Given the description of an element on the screen output the (x, y) to click on. 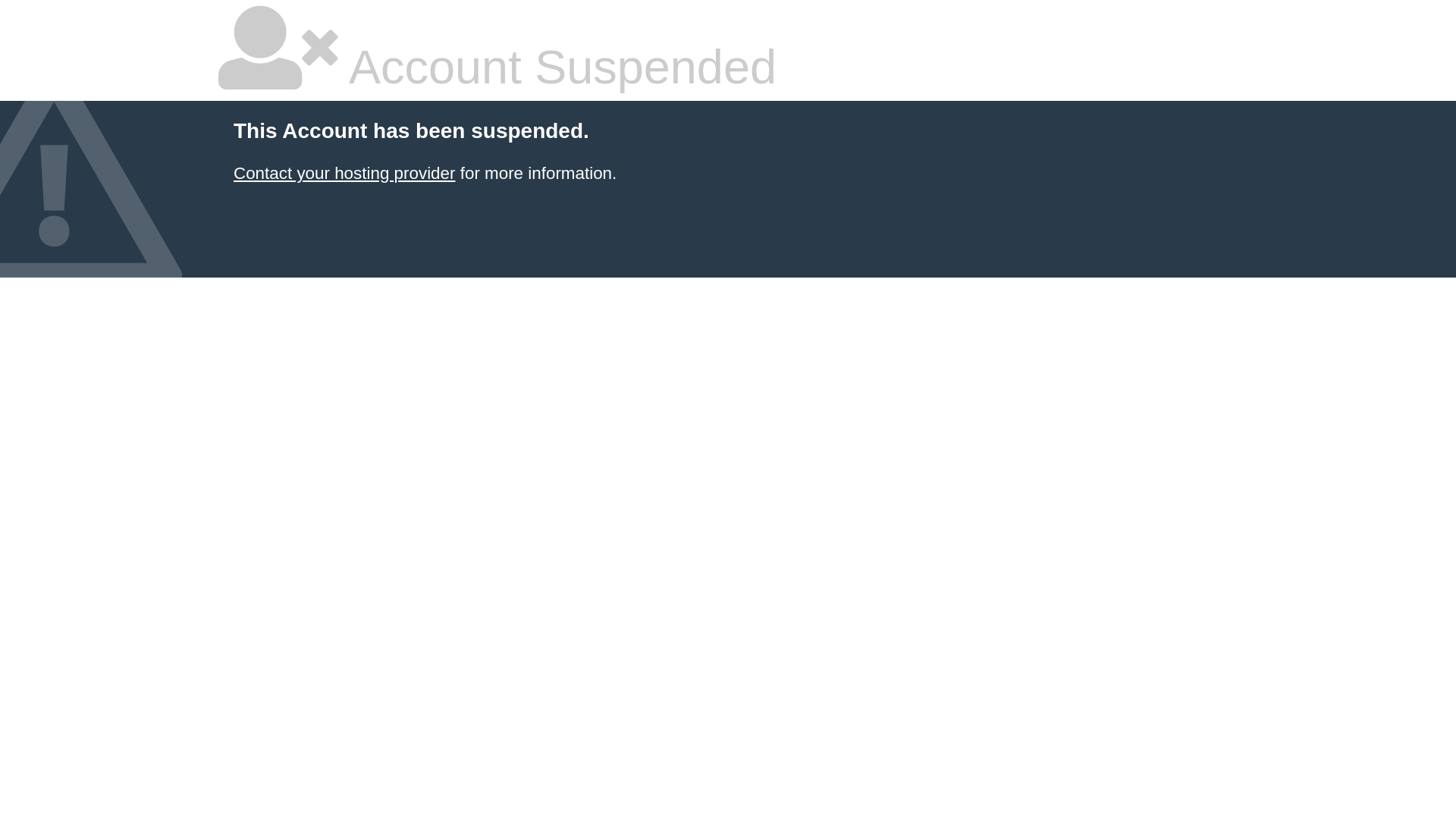
Contact your hosting provider Element type: text (344, 172)
